Given the description of an element on the screen output the (x, y) to click on. 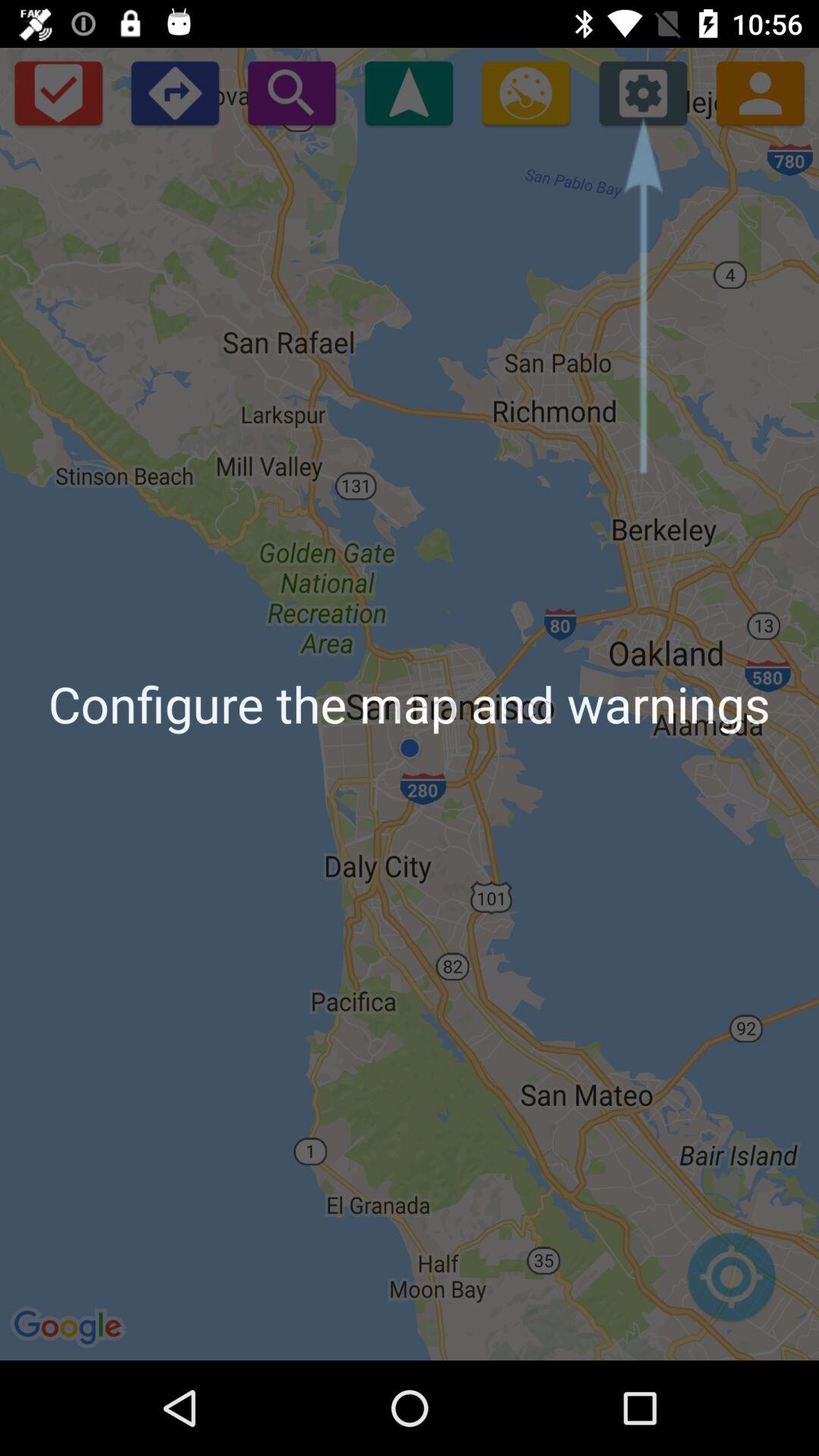
choose icon at the bottom right corner (731, 1284)
